Given the description of an element on the screen output the (x, y) to click on. 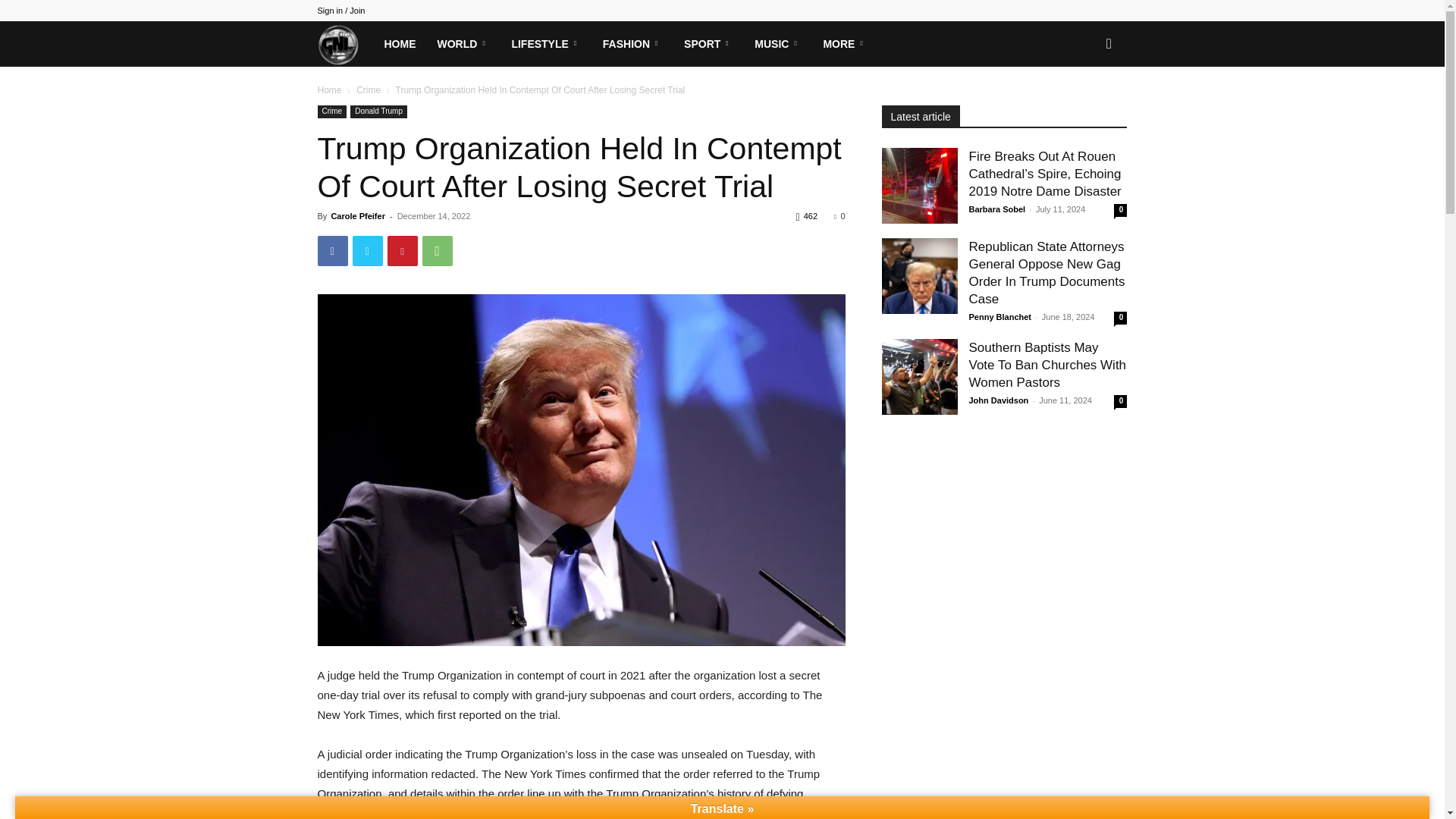
Global News Ink (344, 43)
LIFESTYLE (545, 43)
WORLD (463, 43)
HOME (399, 43)
